Given the description of an element on the screen output the (x, y) to click on. 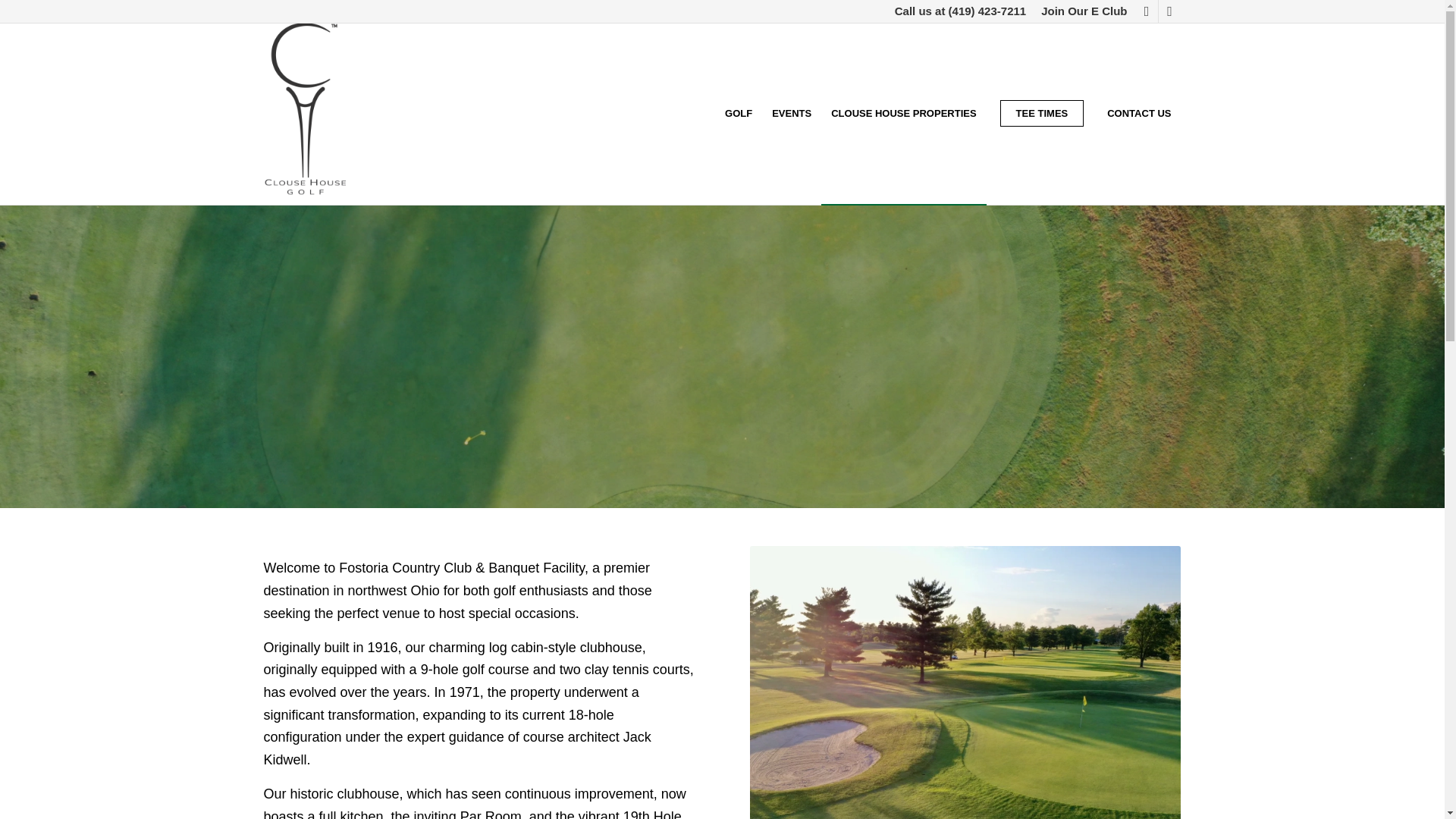
CLOUSE HOUSE PROPERTIES (903, 113)
Mail (1146, 11)
Join Our E Club (1083, 11)
Instagram (1169, 11)
